Given the description of an element on the screen output the (x, y) to click on. 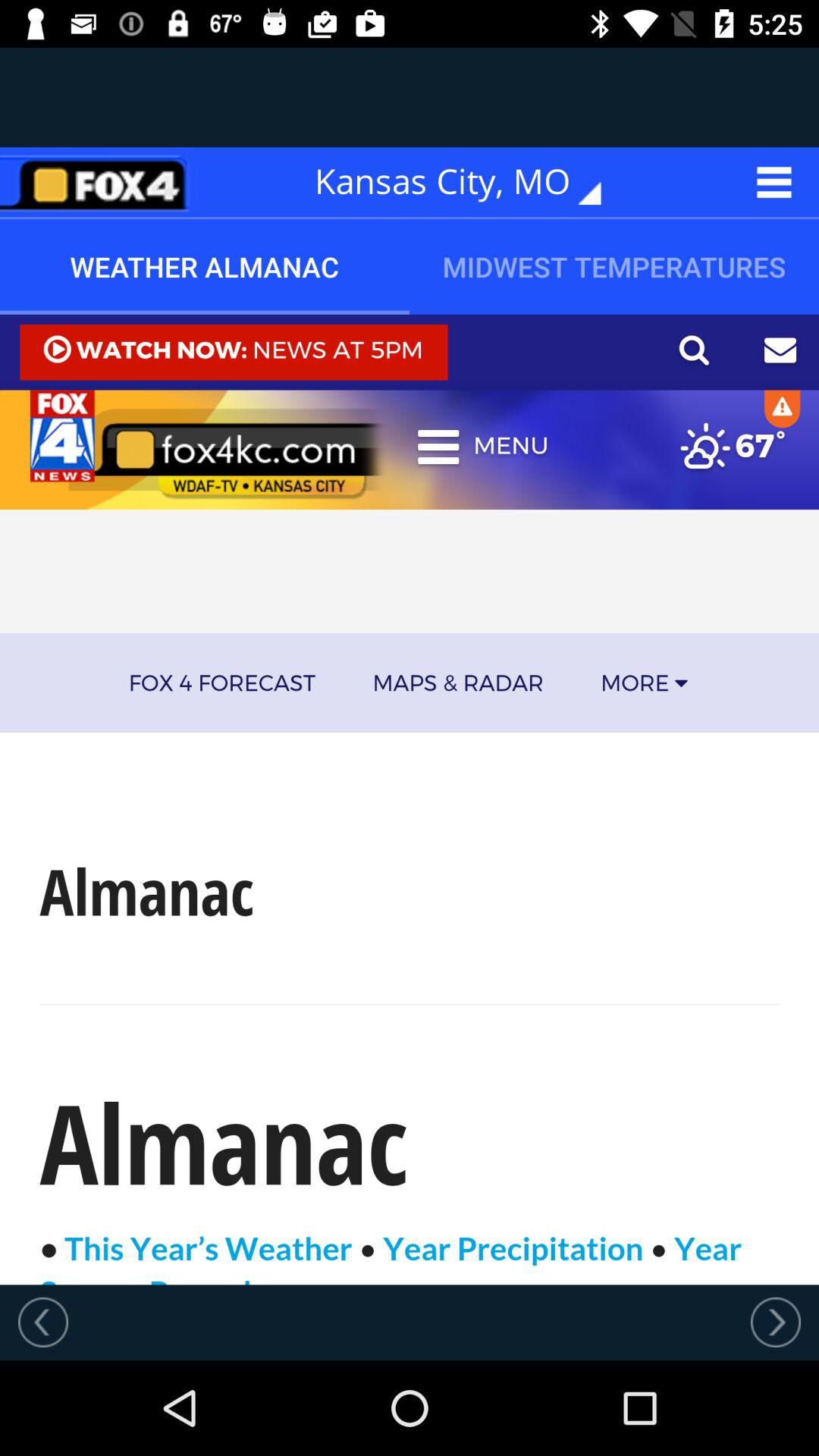
open previous screen (43, 1322)
